Given the description of an element on the screen output the (x, y) to click on. 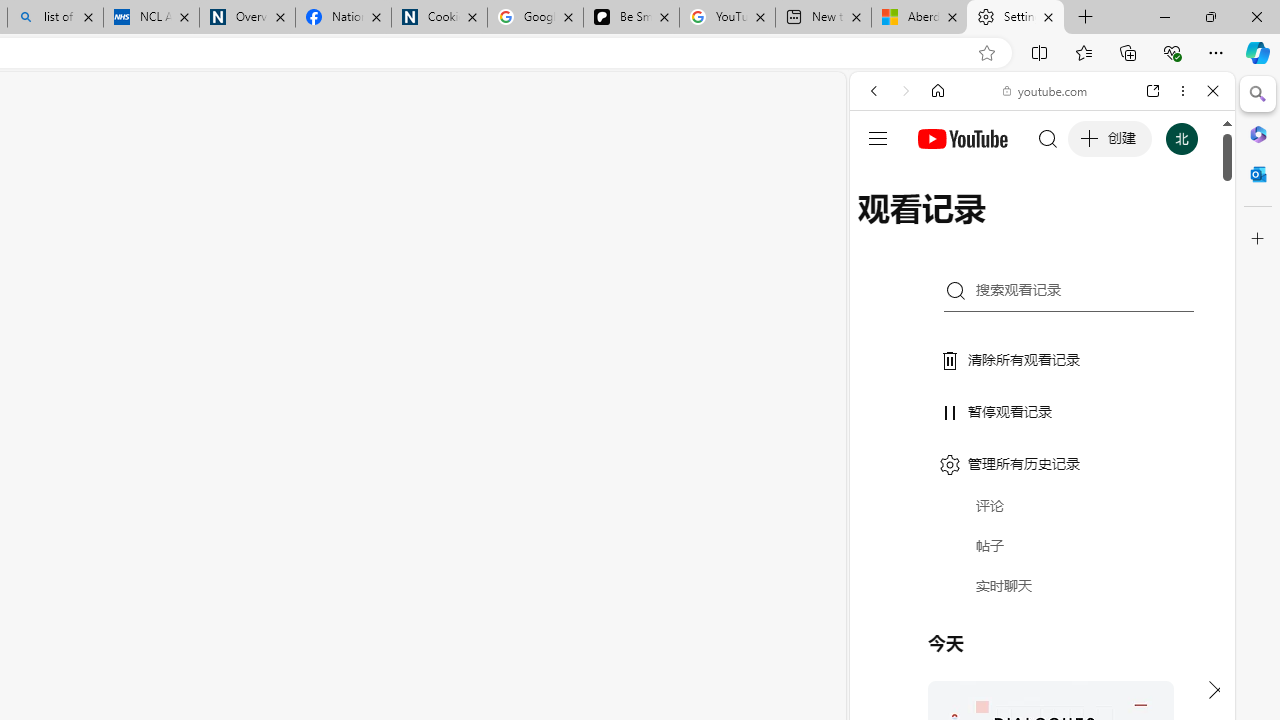
Be Smart | creating Science videos | Patreon (631, 17)
Music (1042, 543)
